Given the description of an element on the screen output the (x, y) to click on. 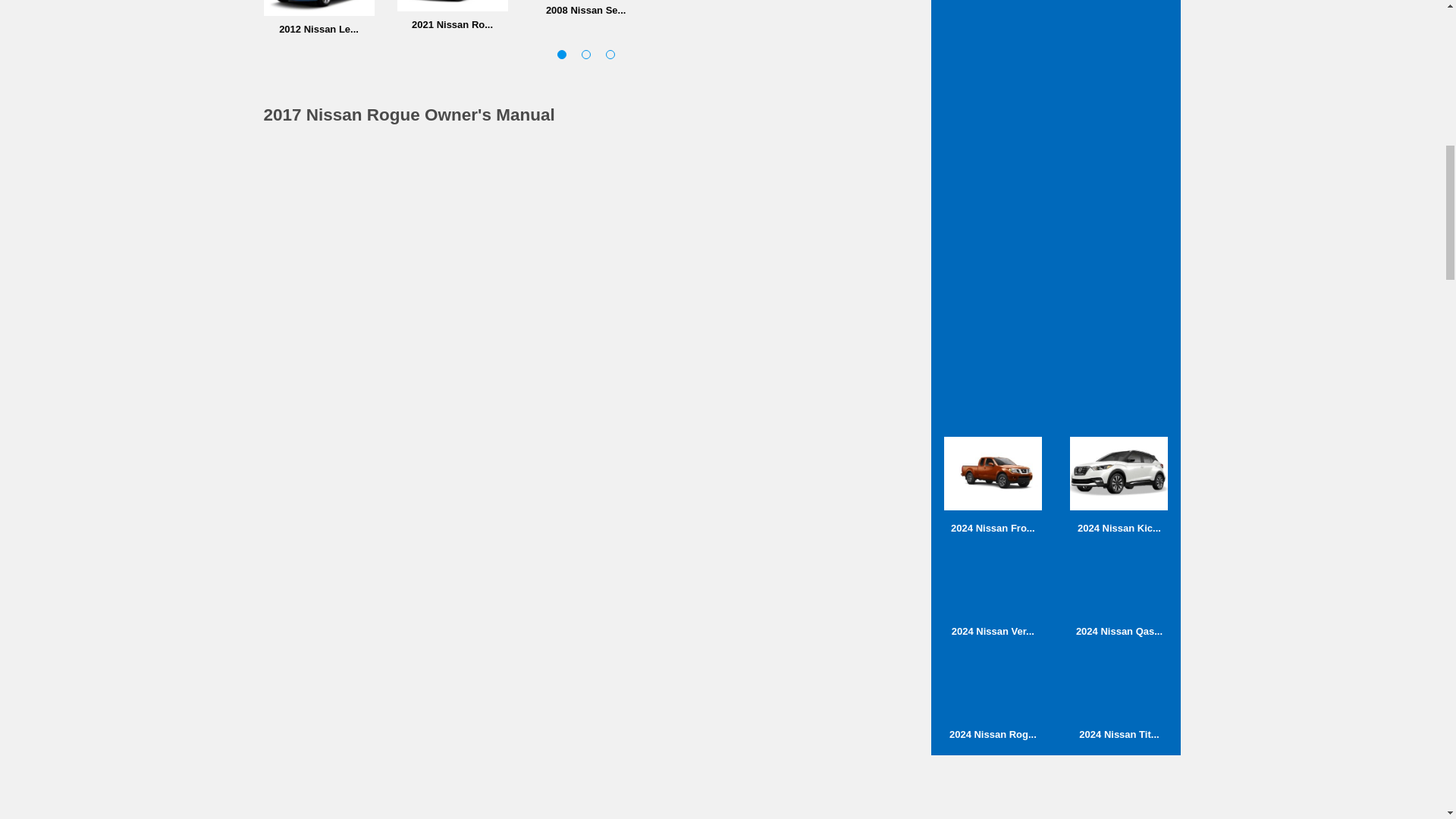
2008 Nissan Se... (586, 7)
2012 Nissan Leaf (318, 7)
2012 Nissan Leaf (318, 17)
2021 Nissan Rogue (452, 15)
2021 Nissan Ro... (452, 15)
2012 Nissan Le... (318, 17)
2008 Nissan Sentra (586, 7)
2021 Nissan Rogue (452, 5)
